Given the description of an element on the screen output the (x, y) to click on. 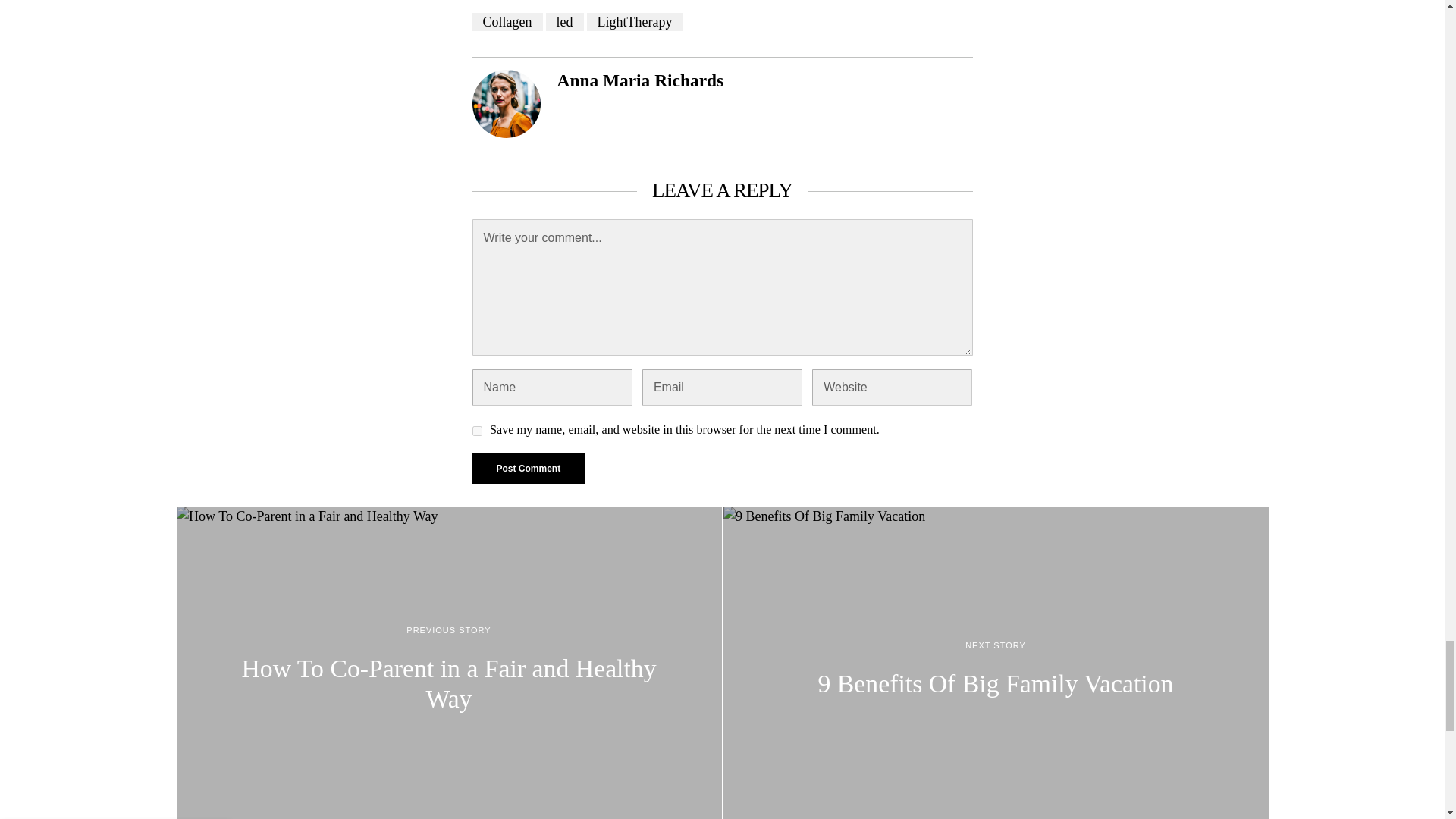
yes (476, 430)
Post Comment (528, 468)
